Given the description of an element on the screen output the (x, y) to click on. 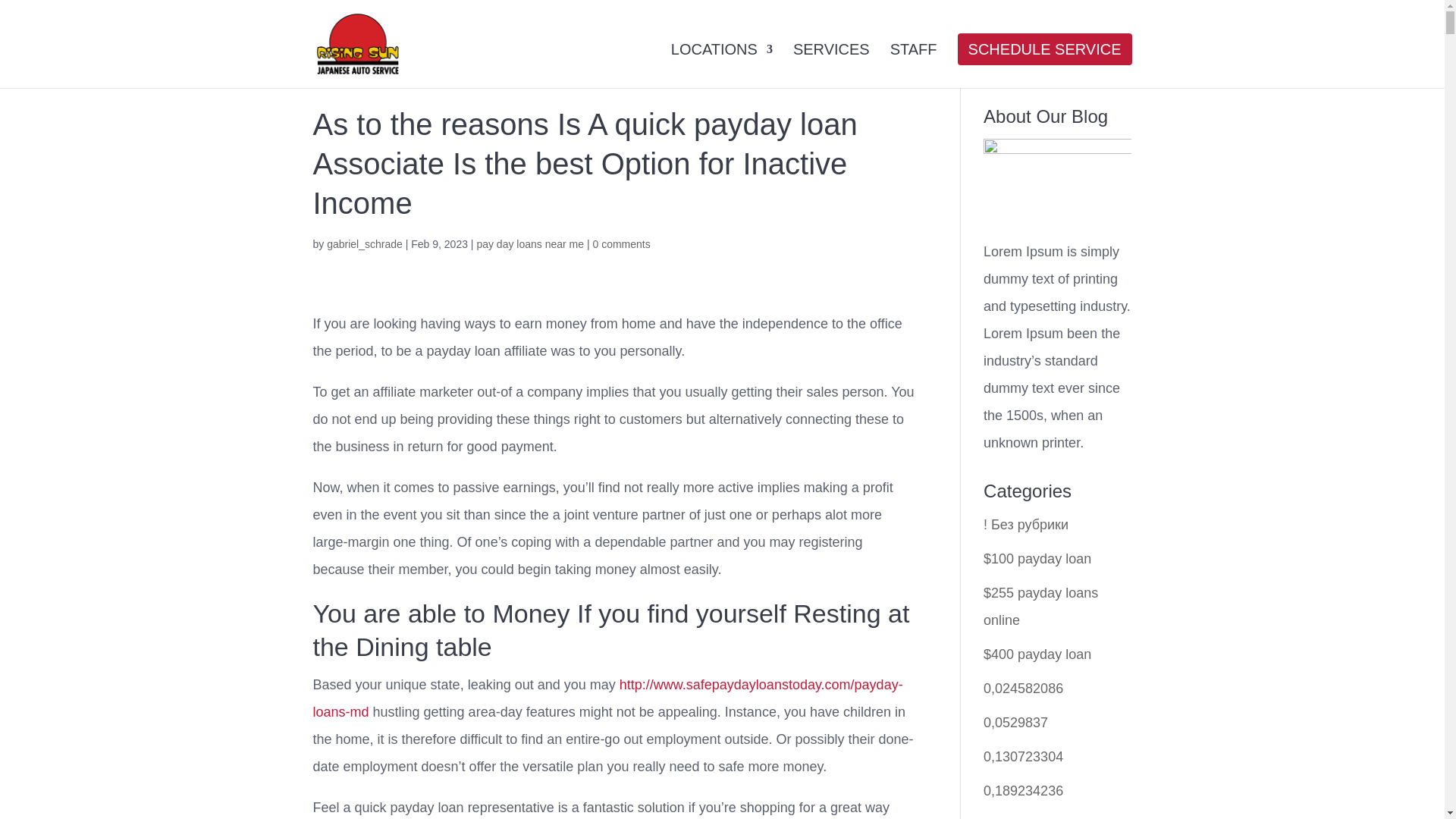
SERVICES (831, 64)
0,189234236 (1023, 790)
pay day loans near me (529, 244)
LOCATIONS (722, 64)
STAFF (913, 64)
0,130723304 (1023, 756)
SCHEDULE SERVICE (1044, 64)
0,0529837 (1016, 722)
0 comments (620, 244)
0,22127931 (1019, 818)
0,024582086 (1023, 688)
